Given the description of an element on the screen output the (x, y) to click on. 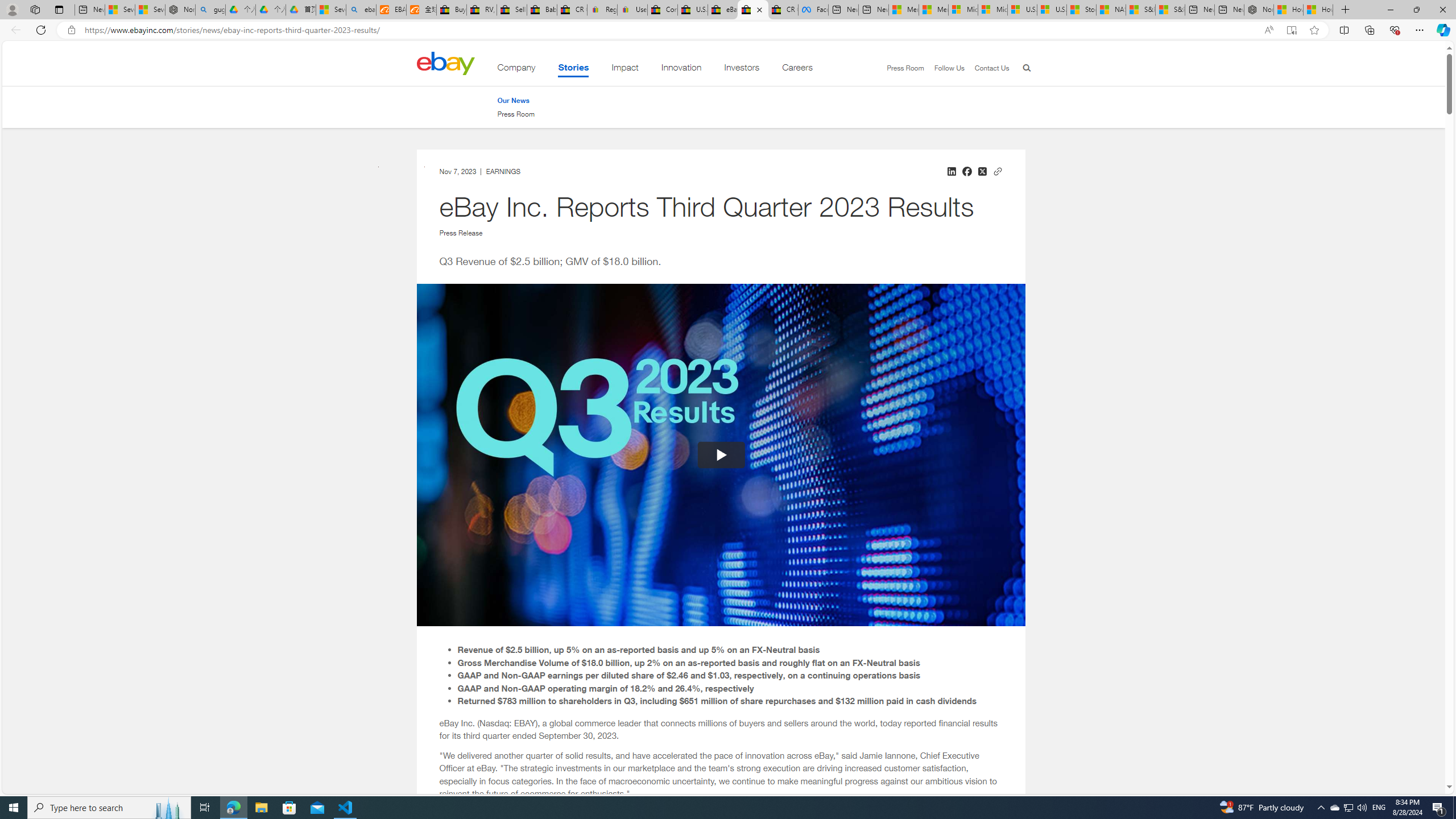
Add this page to favorites (Ctrl+D) (1314, 29)
Investors (741, 69)
Refresh (40, 29)
Sell worldwide with eBay (511, 9)
View site information (70, 29)
Impact (625, 69)
Stories . This is the current section. (573, 69)
Careers (796, 69)
Collections (1369, 29)
Share on LinkedIn (951, 171)
Home (445, 63)
